Given the description of an element on the screen output the (x, y) to click on. 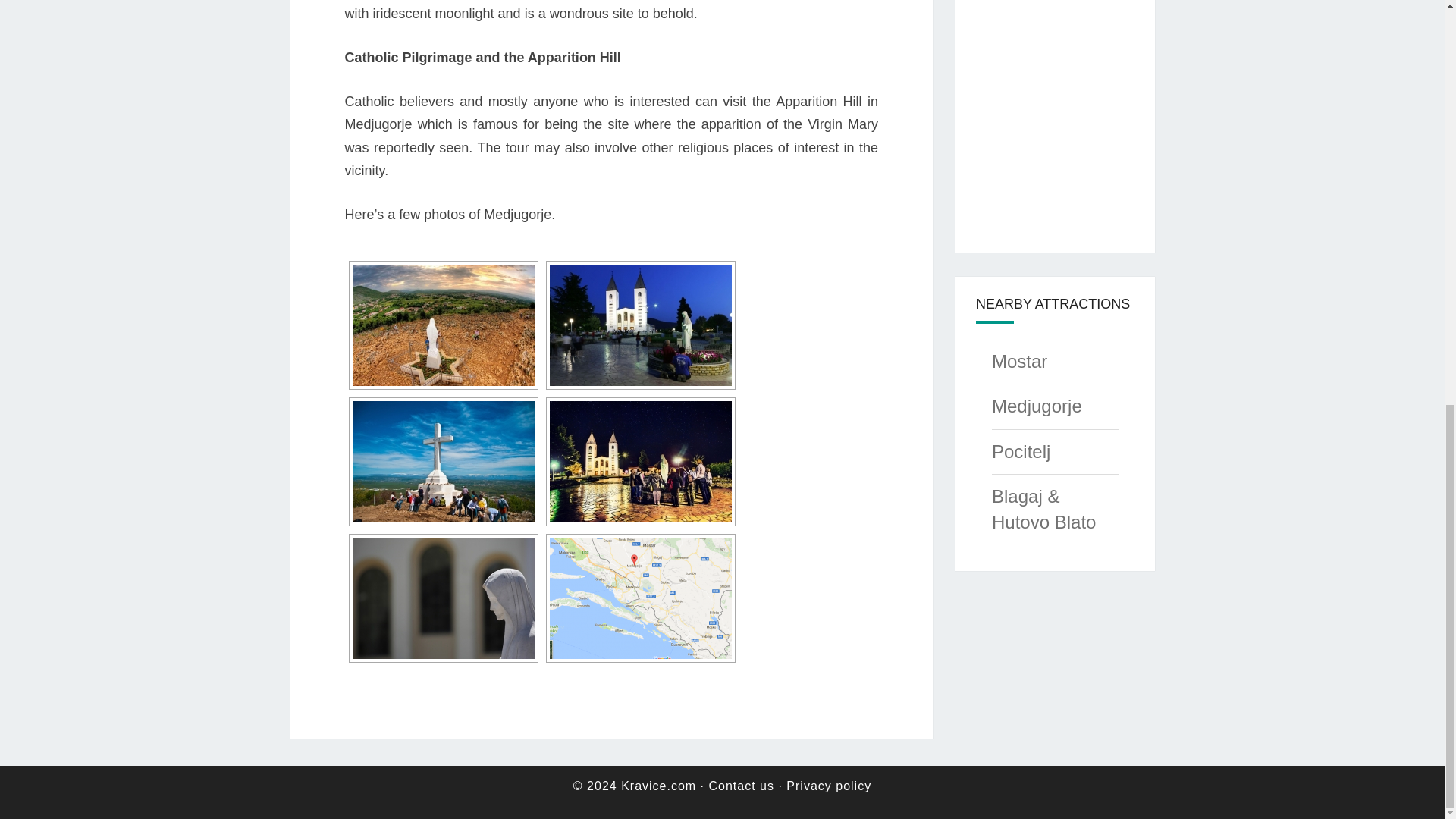
medjugorje-praying (639, 461)
medjugorje-bosnia (443, 324)
medjugorje-krizevac (443, 461)
medjugorje map (639, 598)
Privacy policy (828, 785)
Medjugorje (1036, 405)
Contact us (740, 785)
medjugorje-croatia (639, 324)
Pocitelj (1020, 451)
Mostar (1018, 361)
